Given the description of an element on the screen output the (x, y) to click on. 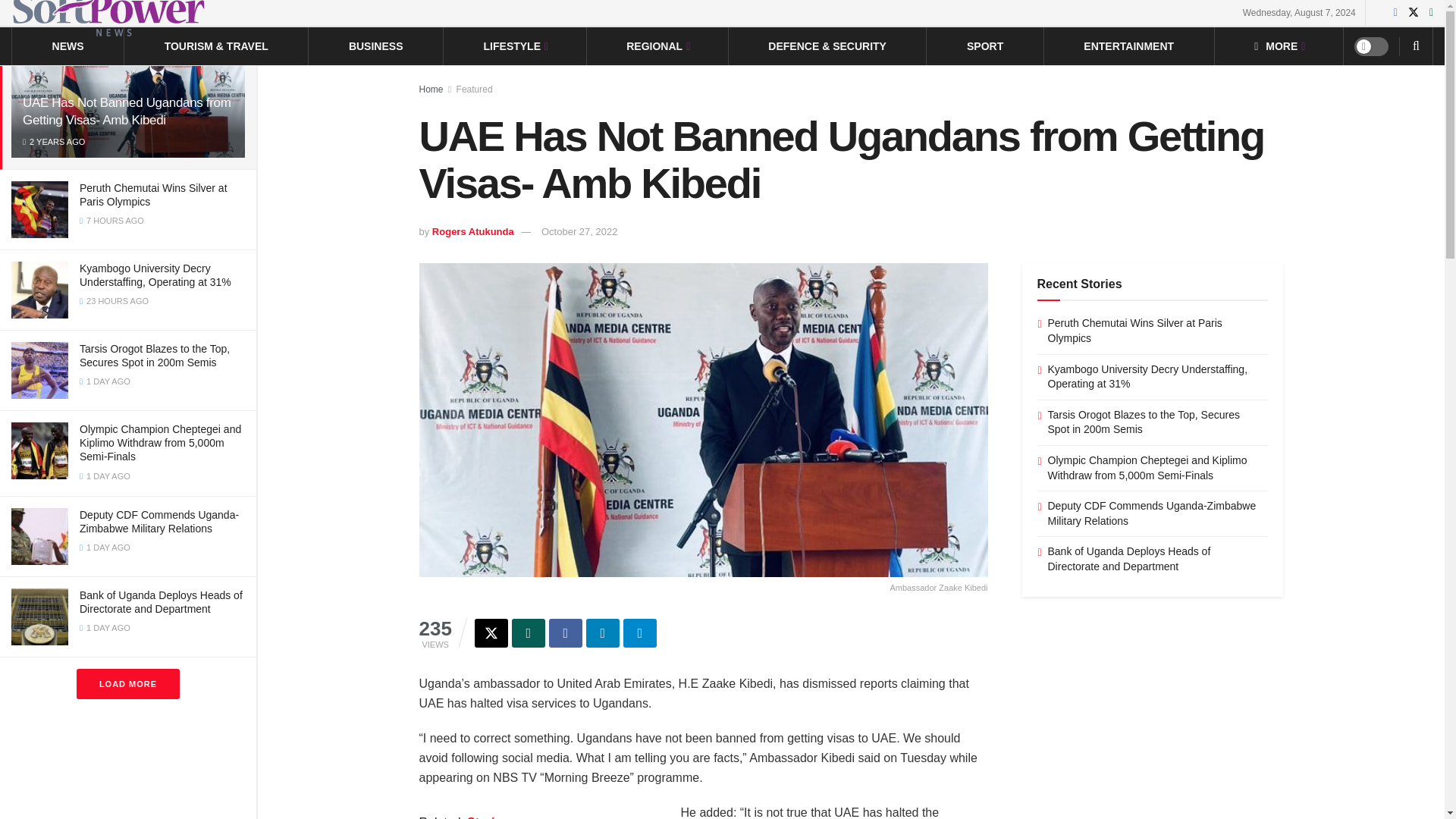
Deputy CDF Commends Uganda-Zimbabwe Military Relations (159, 521)
ENTERTAINMENT (1128, 46)
REGIONAL (656, 46)
MORE (1278, 46)
BUSINESS (376, 46)
NEWS (68, 46)
Bank of Uganda Deploys Heads of Directorate and Department (161, 601)
Peruth Chemutai Wins Silver at Paris Olympics (153, 194)
